Given the description of an element on the screen output the (x, y) to click on. 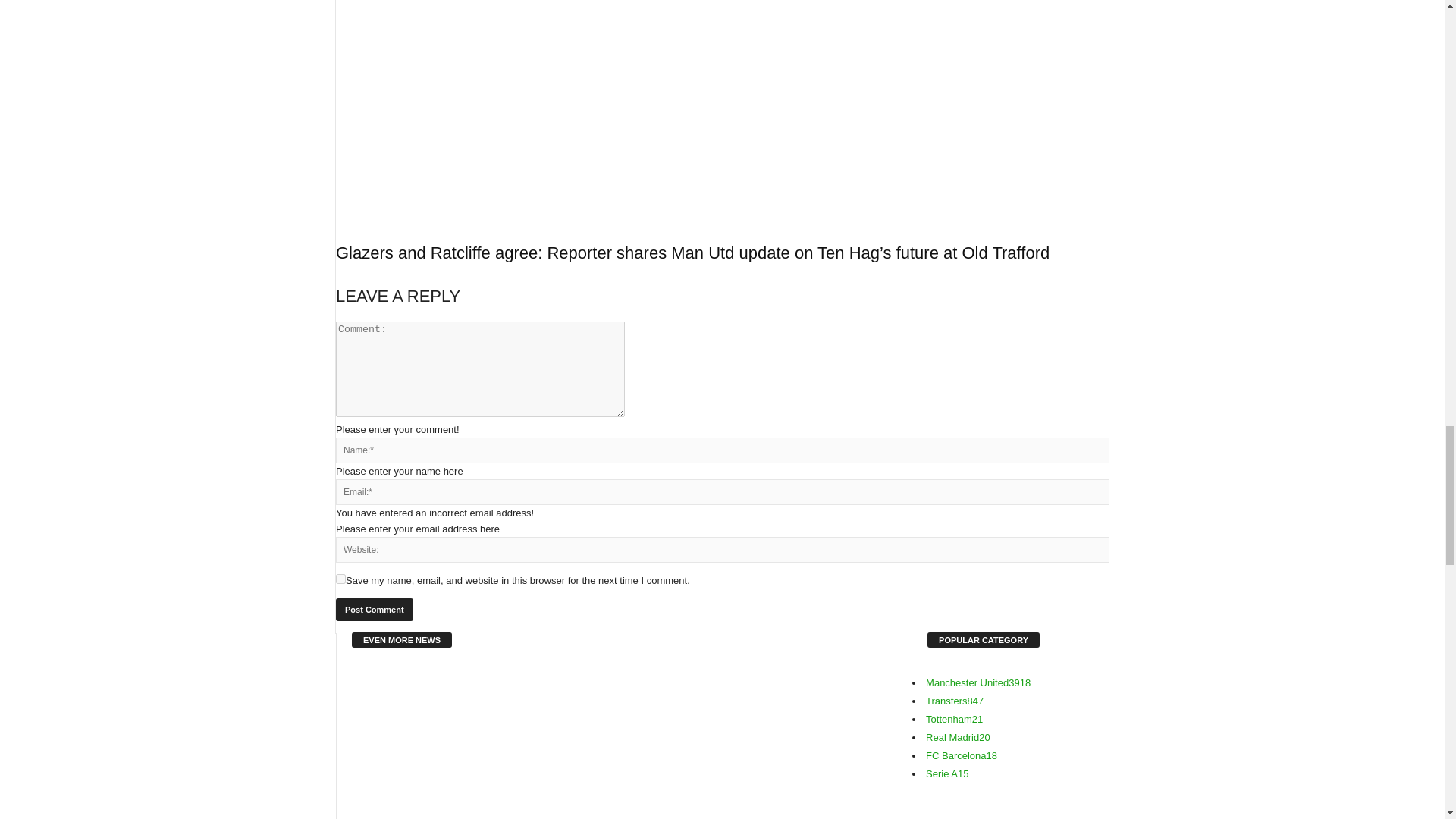
Post Comment (374, 609)
yes (341, 578)
